Given the description of an element on the screen output the (x, y) to click on. 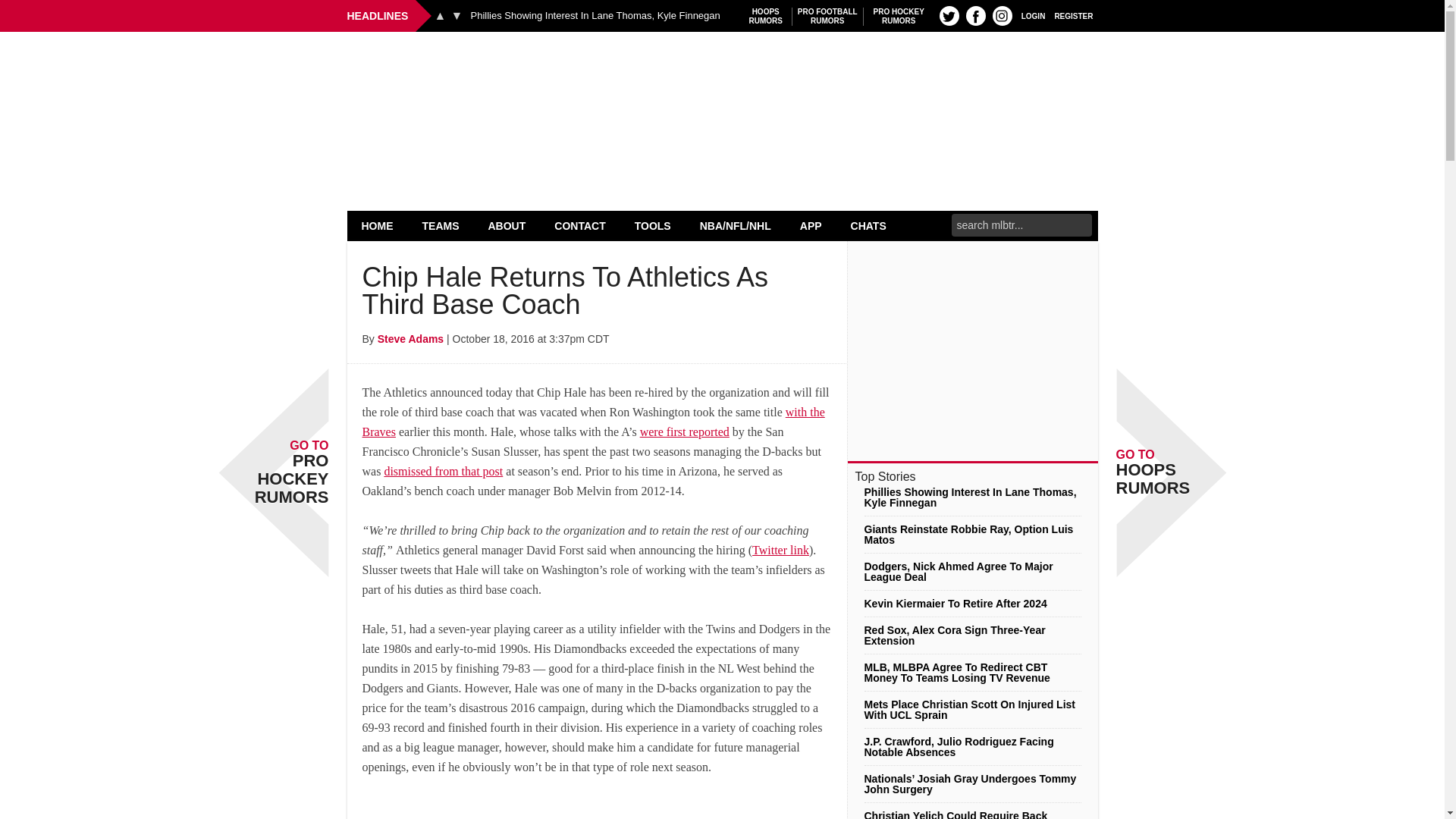
Phillies Showing Interest In Lane Thomas, Kyle Finnegan (594, 15)
Search (827, 16)
Previous (456, 15)
LOGIN (439, 15)
MLB Trade Rumors (1032, 15)
TEAMS (765, 16)
REGISTER (722, 69)
Instagram profile (440, 225)
Twitter profile (1073, 15)
HOME (1001, 15)
FB profile (949, 15)
